Given the description of an element on the screen output the (x, y) to click on. 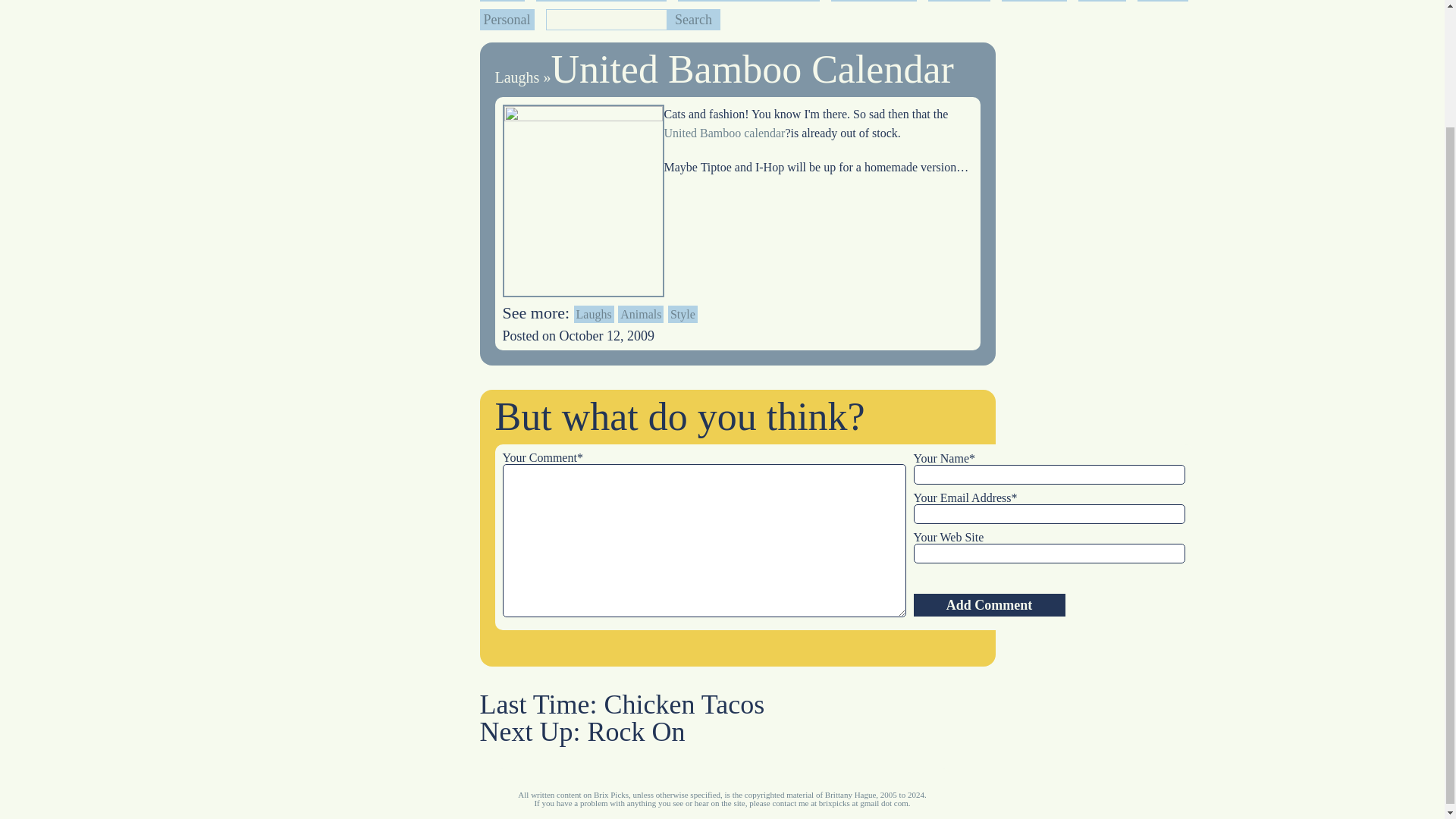
Chicken Tacos (684, 704)
Add Comment (988, 604)
United Bamboo Calendar (751, 68)
Add Comment (988, 604)
Animals (640, 313)
Personal (507, 19)
Search (693, 19)
Search (693, 19)
Style (682, 313)
Laughs (516, 76)
united bamboo cat calendar (724, 132)
Search (693, 19)
Rock On (635, 731)
United Bamboo calendar (724, 132)
Laughs (593, 313)
